Given the description of an element on the screen output the (x, y) to click on. 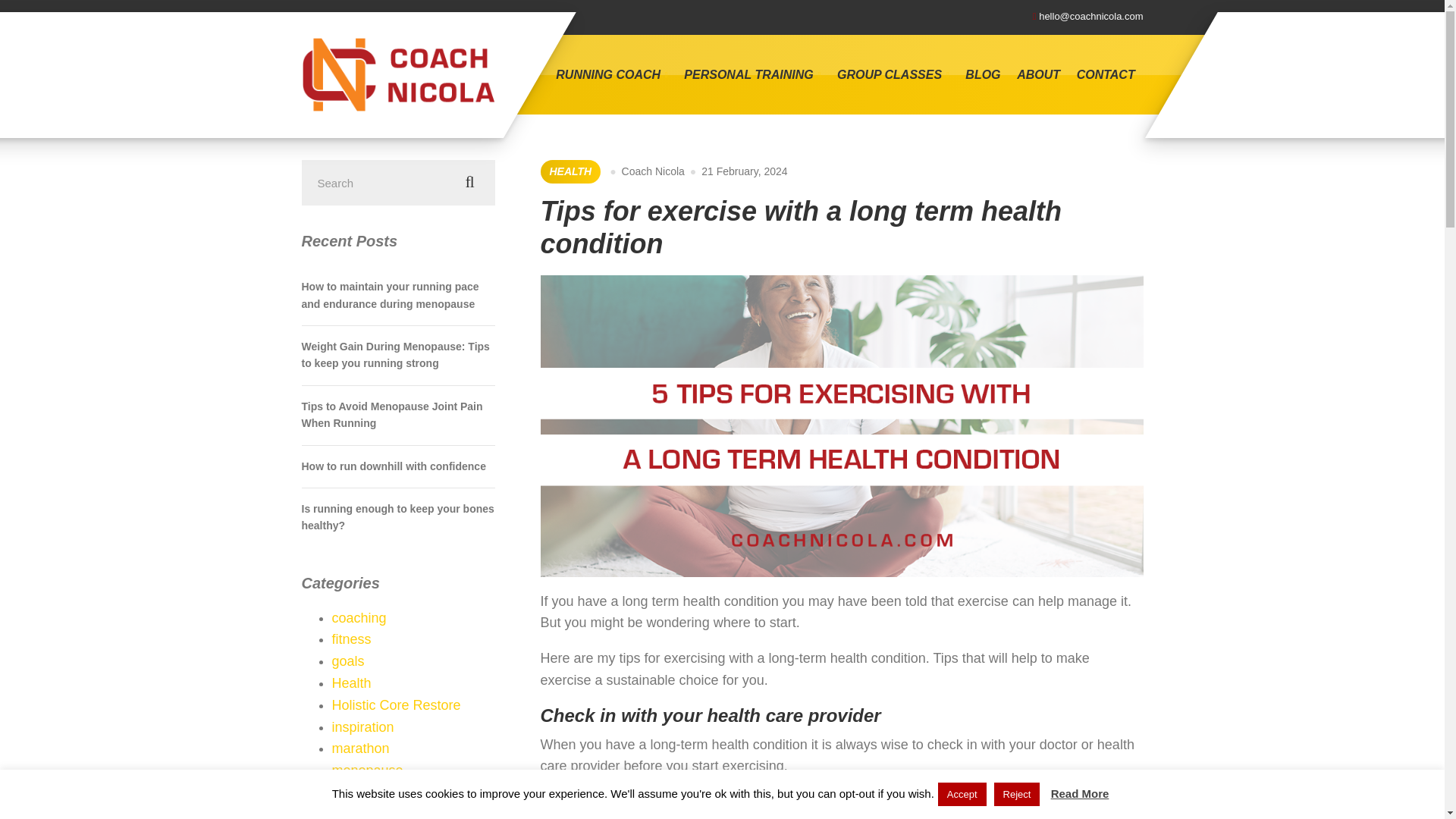
fitness (351, 639)
goals (348, 661)
Health (351, 683)
HEALTH (569, 170)
marathon (360, 748)
BLOG (983, 75)
ABOUT (1038, 75)
RUNNING COACH (612, 75)
Holistic Core Restore (396, 704)
menopause (367, 770)
Tips to Avoid Menopause Joint Pain When Running (398, 414)
21 February, 2024 (744, 171)
GROUP CLASSES (892, 75)
